Given the description of an element on the screen output the (x, y) to click on. 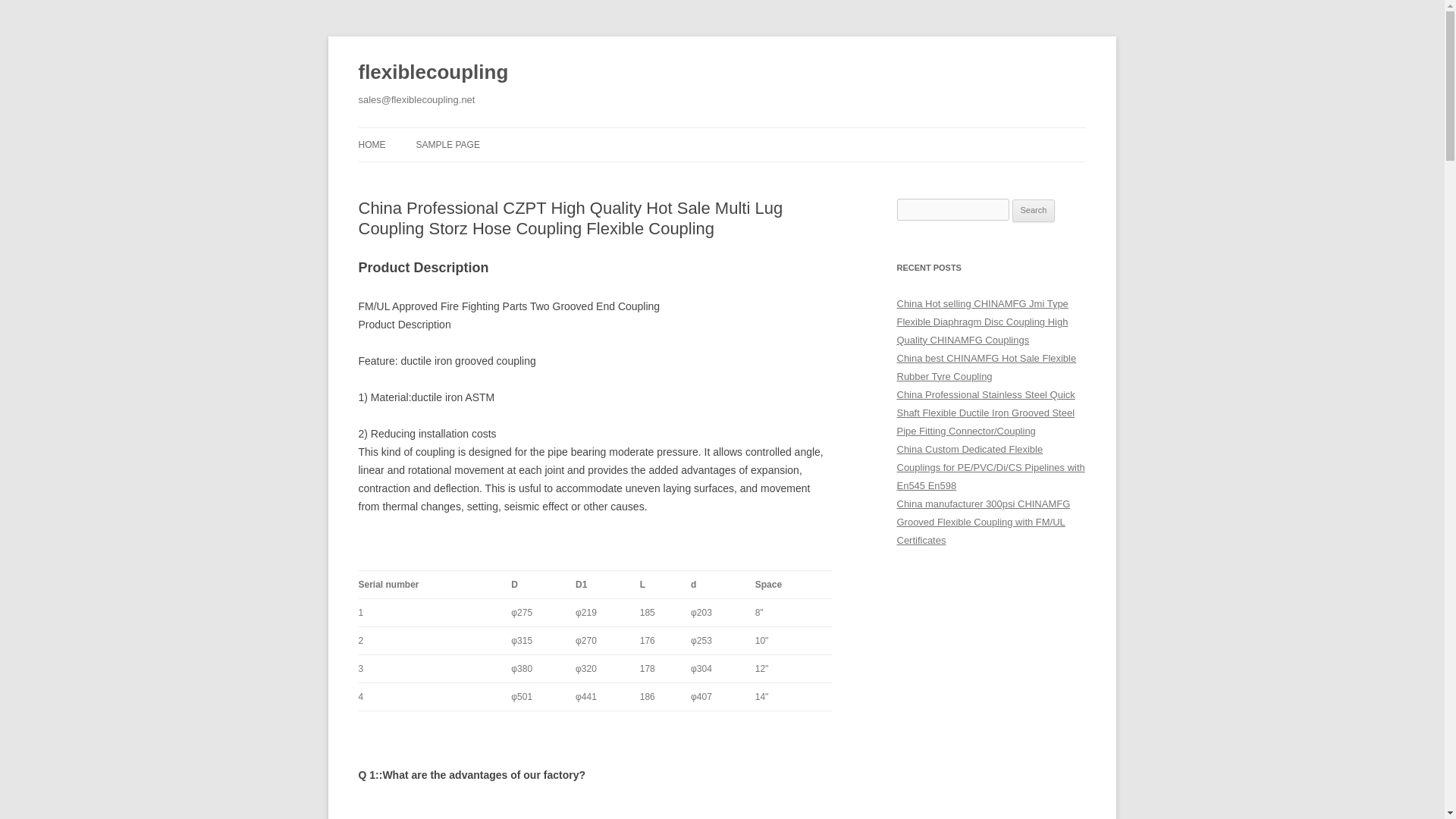
flexiblecoupling (433, 72)
Search (1033, 210)
flexiblecoupling (433, 72)
China best CHINAMFG Hot Sale Flexible Rubber Tyre Coupling (985, 367)
SAMPLE PAGE (446, 144)
Search (1033, 210)
